Given the description of an element on the screen output the (x, y) to click on. 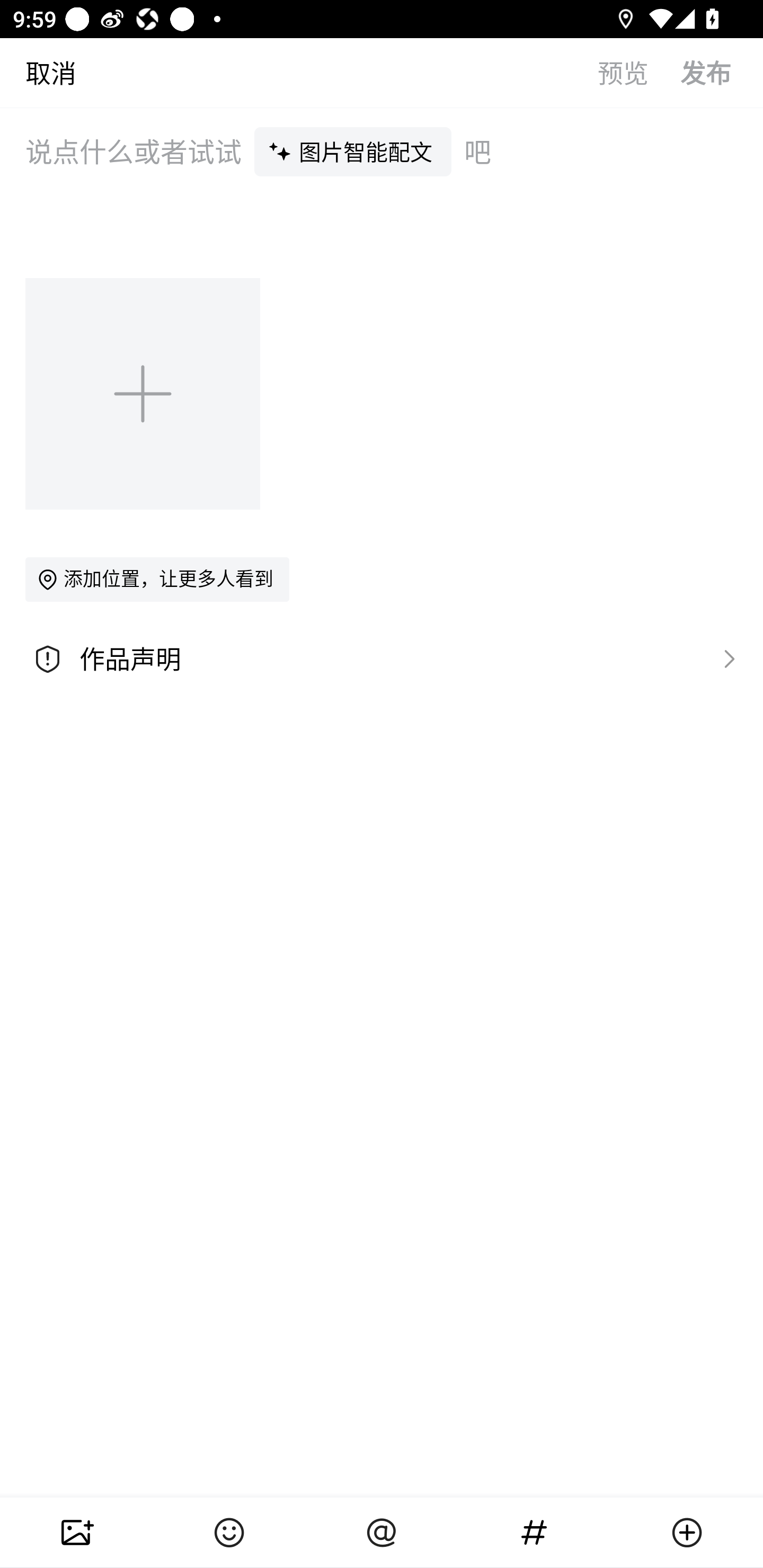
取消 (38, 71)
预览 (638, 71)
发布 (721, 71)
图片智能配文 (352, 151)
添加图片 (144, 393)
添加位置，让更多人看到 (157, 579)
作品声明 高级设置 作品声明 高级设置 (381, 658)
高级设置 (724, 658)
相册 (76, 1532)
表情 (228, 1532)
at (381, 1532)
话题 (533, 1532)
更多 (686, 1532)
